Given the description of an element on the screen output the (x, y) to click on. 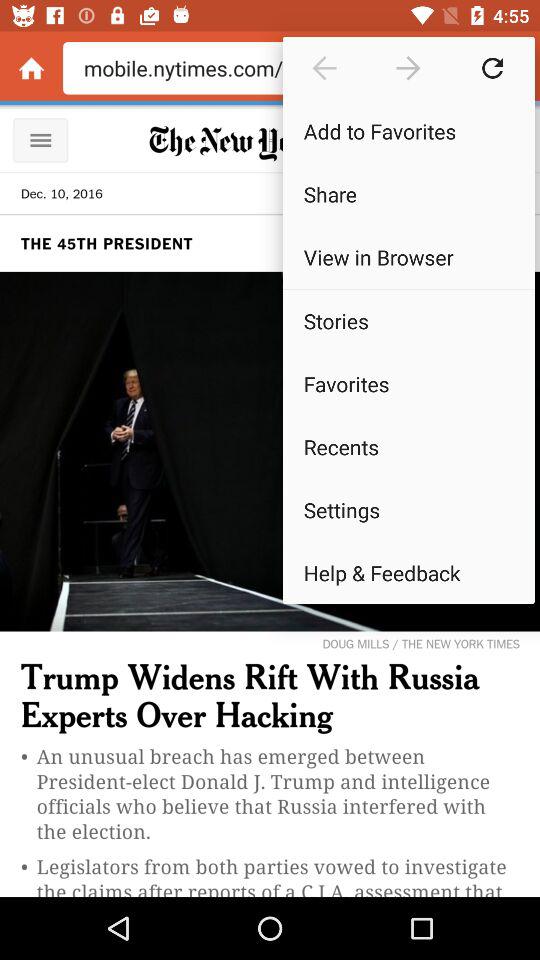
click item above settings item (408, 446)
